Given the description of an element on the screen output the (x, y) to click on. 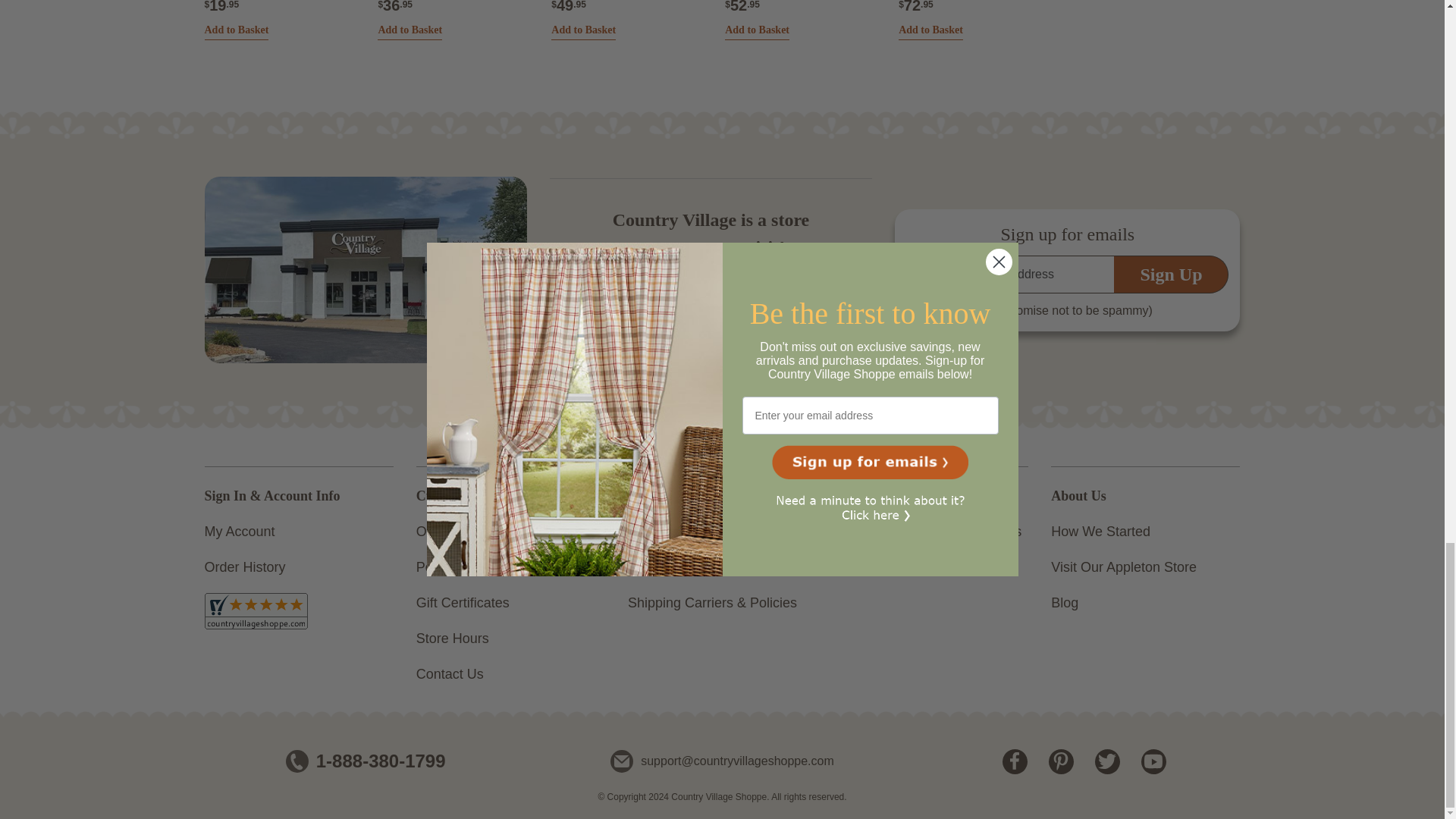
Sign Up (1170, 274)
